Given the description of an element on the screen output the (x, y) to click on. 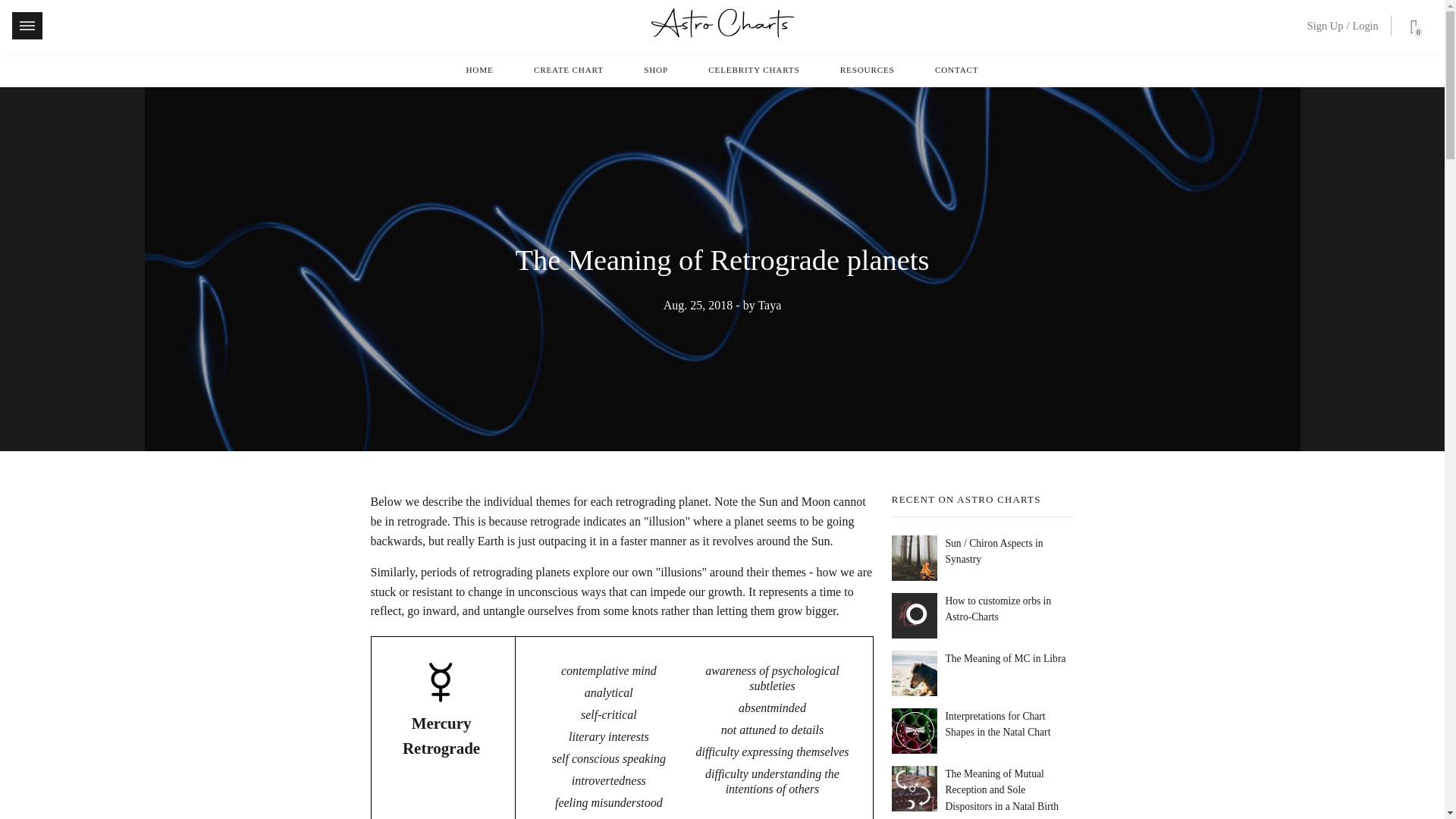
CREATE CHART (569, 69)
HOME (479, 69)
0 (1410, 29)
Login (1364, 25)
Sign Up (1325, 25)
